Given the description of an element on the screen output the (x, y) to click on. 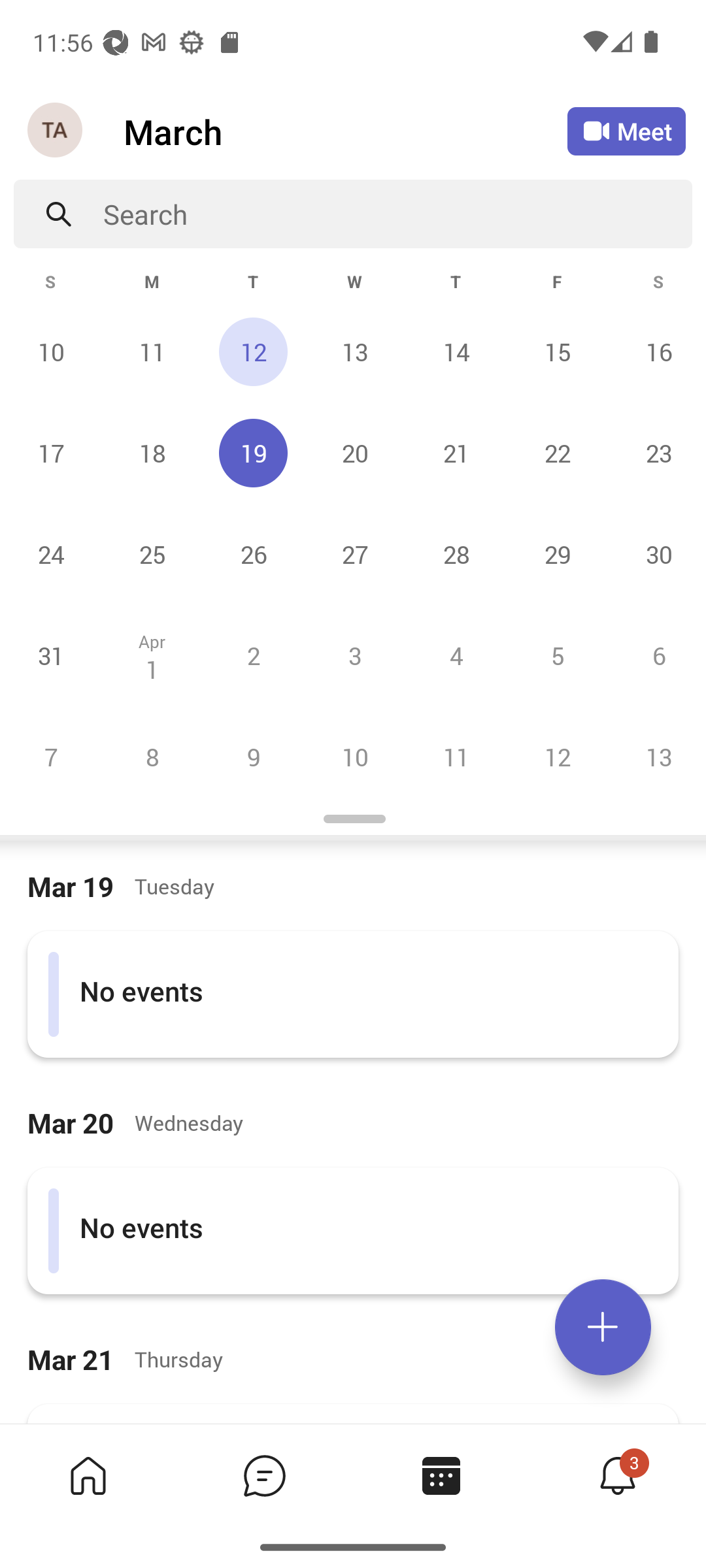
Navigation (56, 130)
Meet Meet now or join with an ID (626, 130)
March March Calendar Agenda View (345, 131)
Search (397, 213)
Sunday, March 10 10 (50, 351)
Monday, March 11 11 (151, 351)
Tuesday, March 12, Today 12 (253, 351)
Wednesday, March 13 13 (354, 351)
Thursday, March 14 14 (455, 351)
Friday, March 15 15 (556, 351)
Saturday, March 16 16 (656, 351)
Sunday, March 17 17 (50, 452)
Monday, March 18 18 (151, 452)
Tuesday, March 19, Selected 19 (253, 452)
Wednesday, March 20 20 (354, 452)
Thursday, March 21 21 (455, 452)
Friday, March 22 22 (556, 452)
Saturday, March 23 23 (656, 452)
Sunday, March 24 24 (50, 554)
Monday, March 25 25 (151, 554)
Tuesday, March 26 26 (253, 554)
Wednesday, March 27 27 (354, 554)
Thursday, March 28 28 (455, 554)
Friday, March 29 29 (556, 554)
Saturday, March 30 30 (656, 554)
Sunday, March 31 31 (50, 655)
Monday, April 1 Apr 1 (151, 655)
Tuesday, April 2 2 (253, 655)
Wednesday, April 3 3 (354, 655)
Thursday, April 4 4 (455, 655)
Friday, April 5 5 (556, 655)
Saturday, April 6 6 (656, 655)
Sunday, April 7 7 (50, 756)
Monday, April 8 8 (151, 756)
Tuesday, April 9 9 (253, 756)
Wednesday, April 10 10 (354, 756)
Thursday, April 11 11 (455, 756)
Friday, April 12 12 (556, 756)
Saturday, April 13 13 (656, 756)
Expand meetings menu (602, 1327)
Home tab,1 of 4, not selected (88, 1475)
Chat tab,2 of 4, not selected (264, 1475)
Calendar tab, 3 of 4 (441, 1475)
Activity tab,4 of 4, not selected, 3 new 3 (617, 1475)
